Given the description of an element on the screen output the (x, y) to click on. 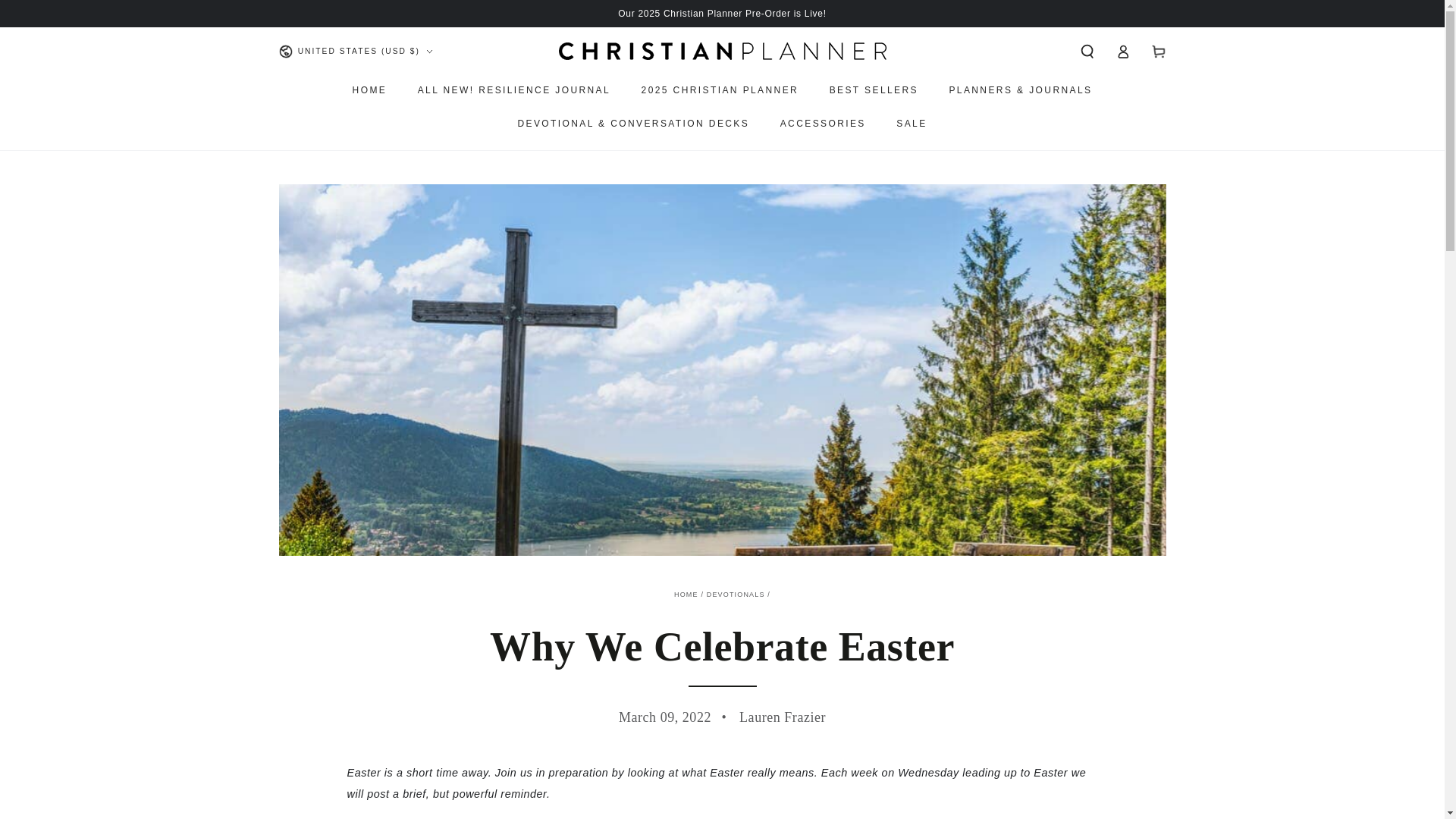
2025 CHRISTIAN PLANNER (719, 90)
Back to the frontpage (686, 594)
ALL NEW! RESILIENCE JOURNAL (513, 90)
BEST SELLERS (873, 90)
SKIP TO CONTENT (61, 13)
Our 2025 Christian Planner Pre-Order is Live! (721, 12)
HOME (369, 90)
